Given the description of an element on the screen output the (x, y) to click on. 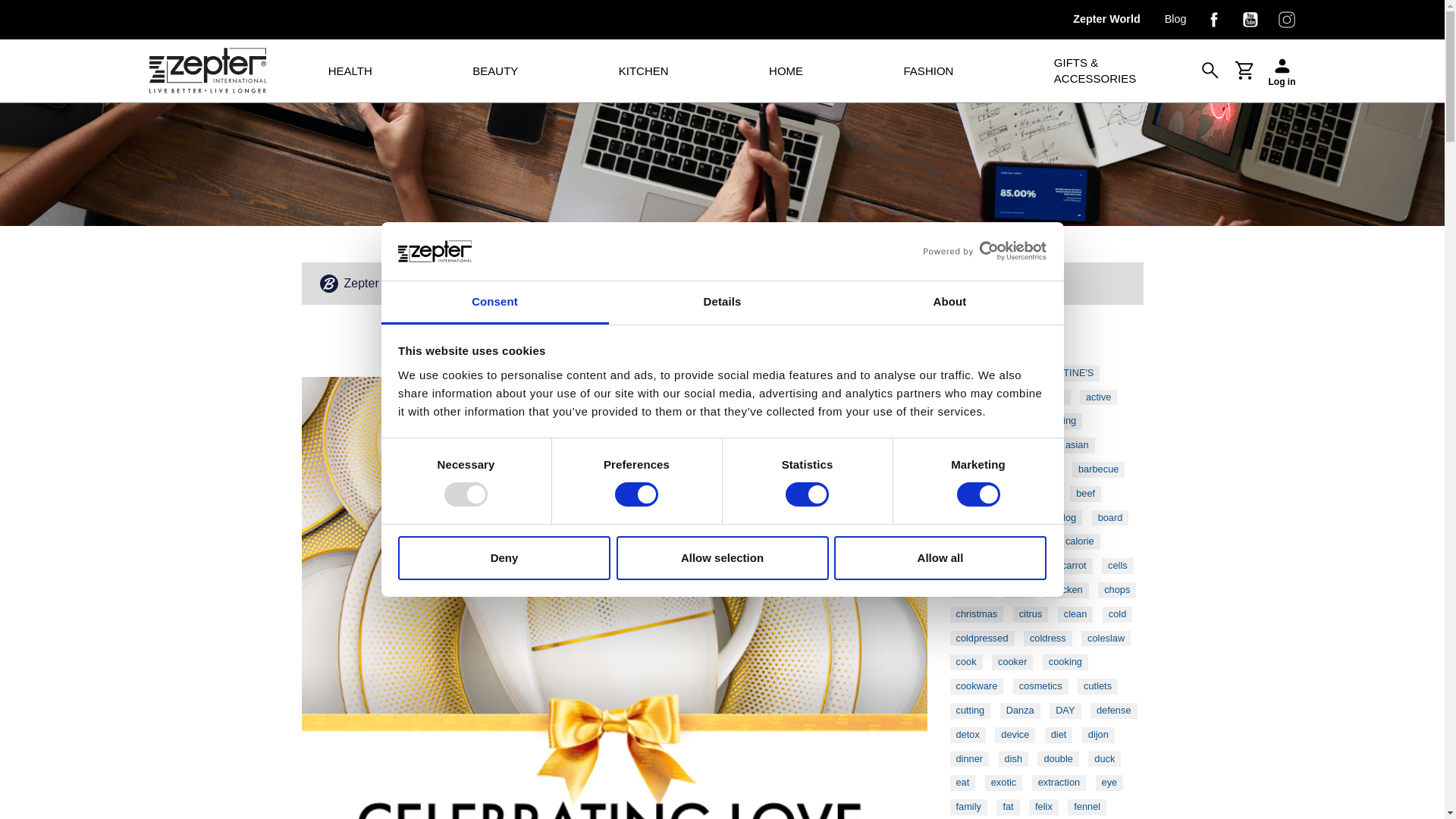
Allow all (940, 557)
Details (721, 302)
Deny (503, 557)
Consent (494, 302)
Allow selection (721, 557)
About (948, 302)
